Given the description of an element on the screen output the (x, y) to click on. 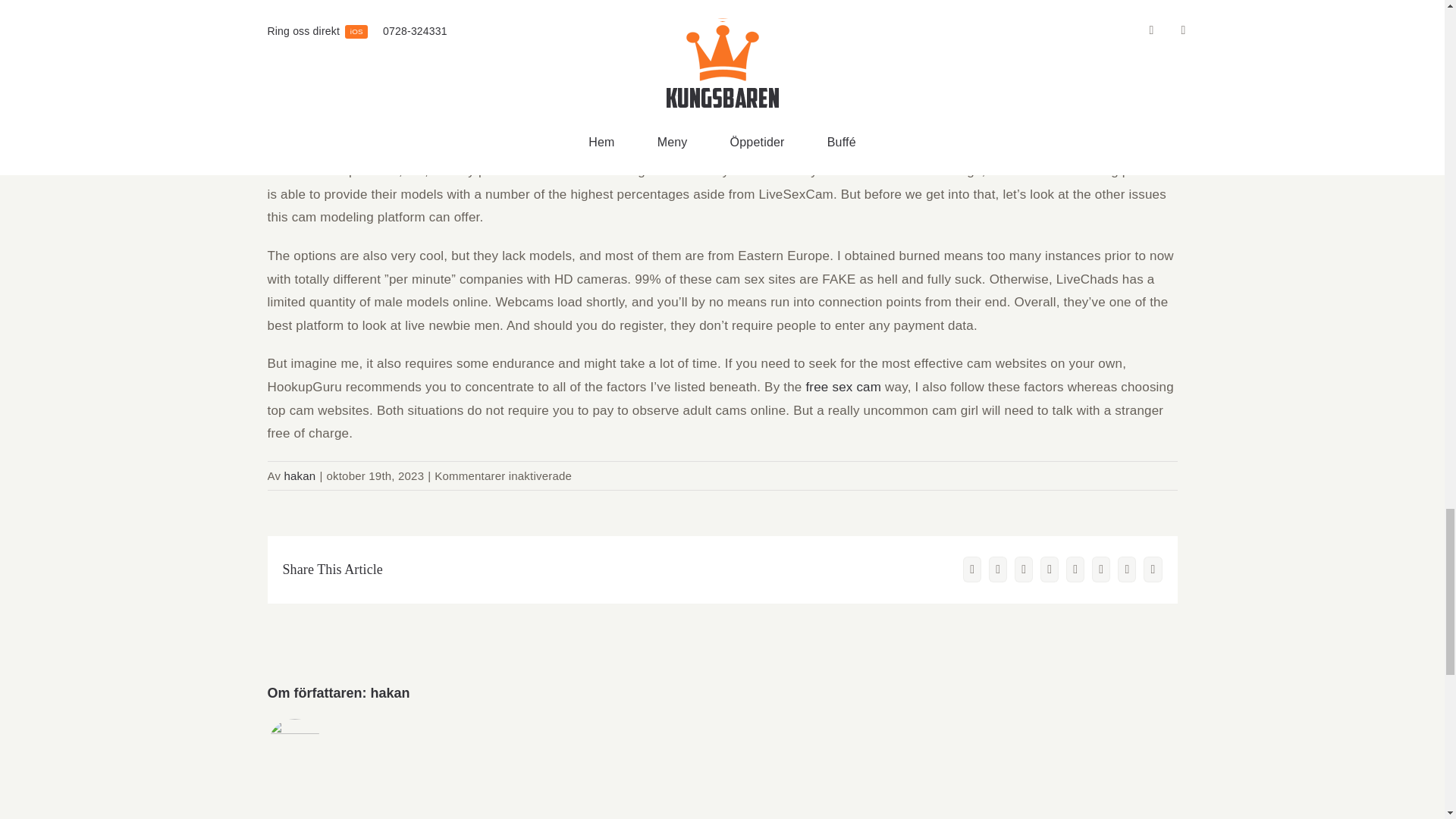
Reddit (1023, 569)
Vk (1126, 569)
hakan (390, 693)
E-post (1151, 569)
Twitter (997, 569)
free sex cam (842, 386)
Pinterest (1100, 569)
Facebook (971, 569)
hakan (299, 475)
LinkedIn (1049, 569)
WhatsApp (1074, 569)
